Given the description of an element on the screen output the (x, y) to click on. 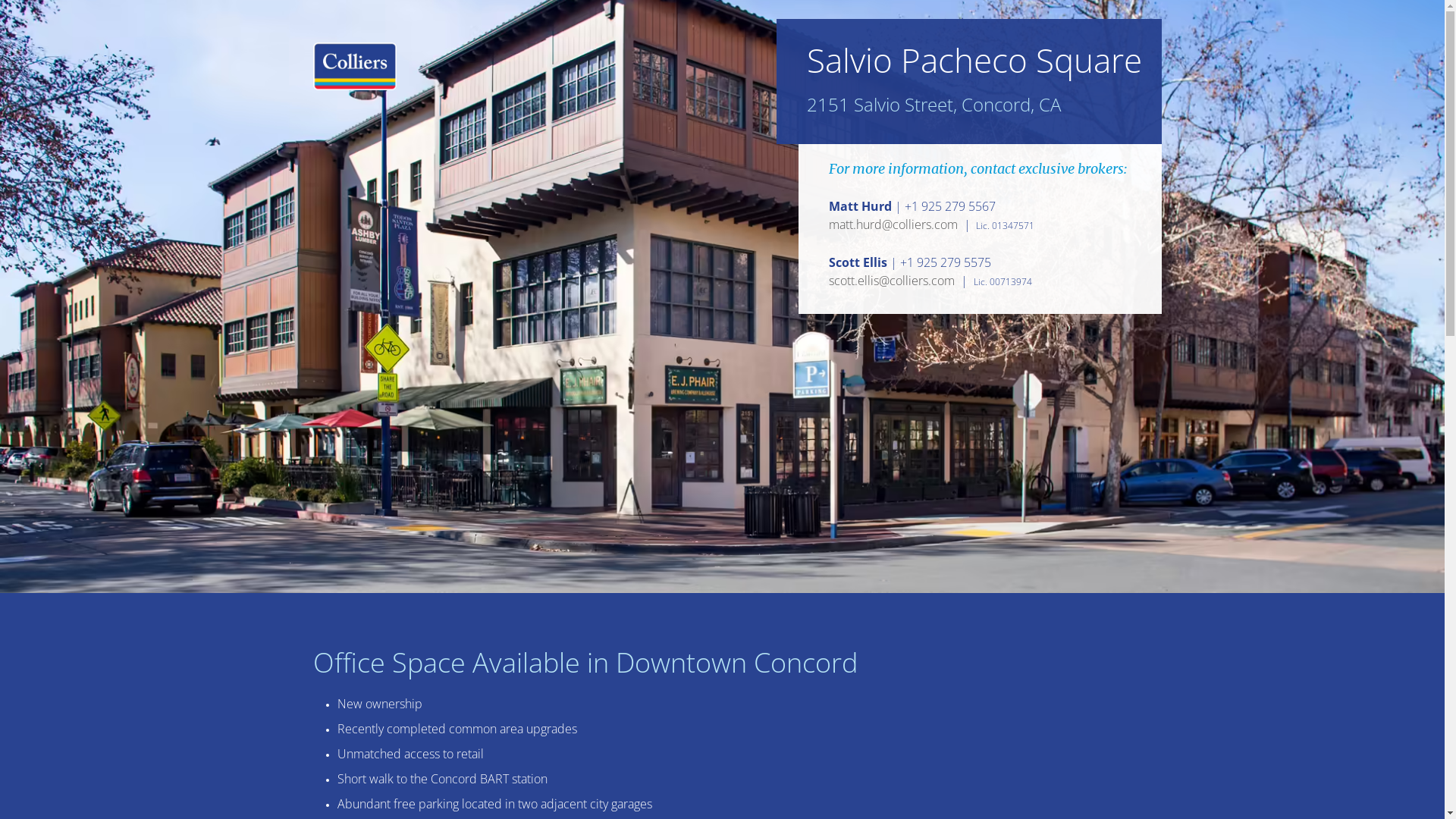
scott.ellis@colliers.com Element type: text (891, 281)
matt.hurd@colliers.com Element type: text (892, 225)
